Given the description of an element on the screen output the (x, y) to click on. 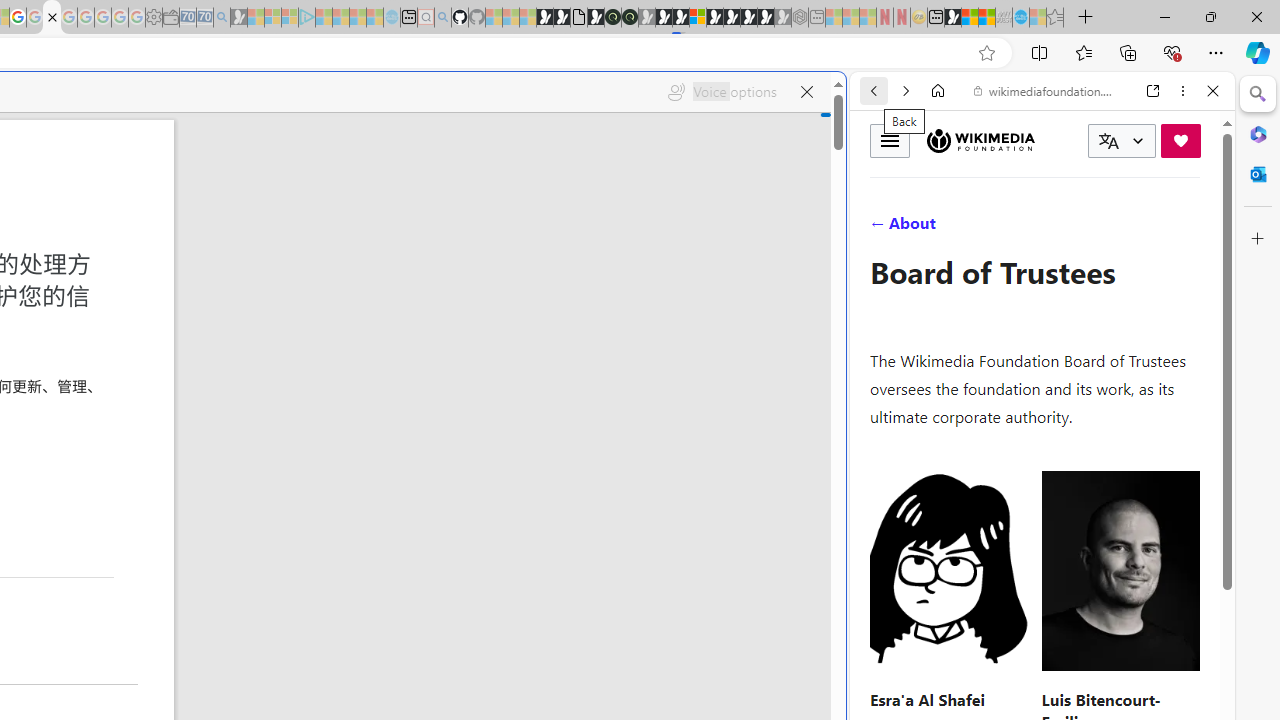
Search or enter web address (343, 191)
